Given the description of an element on the screen output the (x, y) to click on. 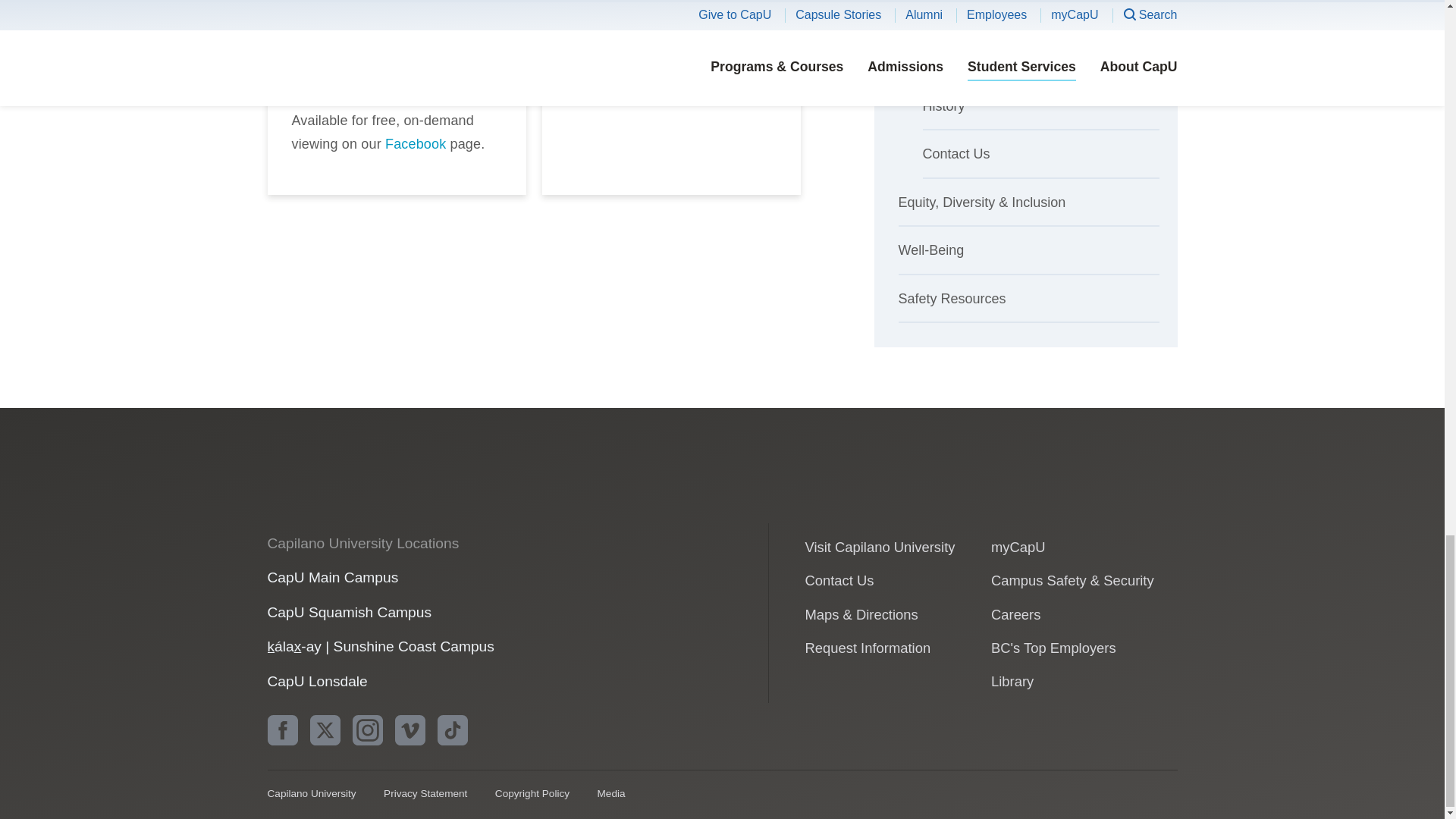
Capilano University (383, 486)
Library (1012, 681)
CapU TikTok (451, 729)
Contact Us (840, 580)
CapU Lonsdale (316, 681)
CapU Instagram (366, 729)
CapU Twitter (323, 729)
Visit Capilano University (880, 546)
BC's Top Employers (1053, 647)
CapU Facebook (281, 729)
CapU Main Campus (331, 577)
CapU Vimeo (409, 729)
